Given the description of an element on the screen output the (x, y) to click on. 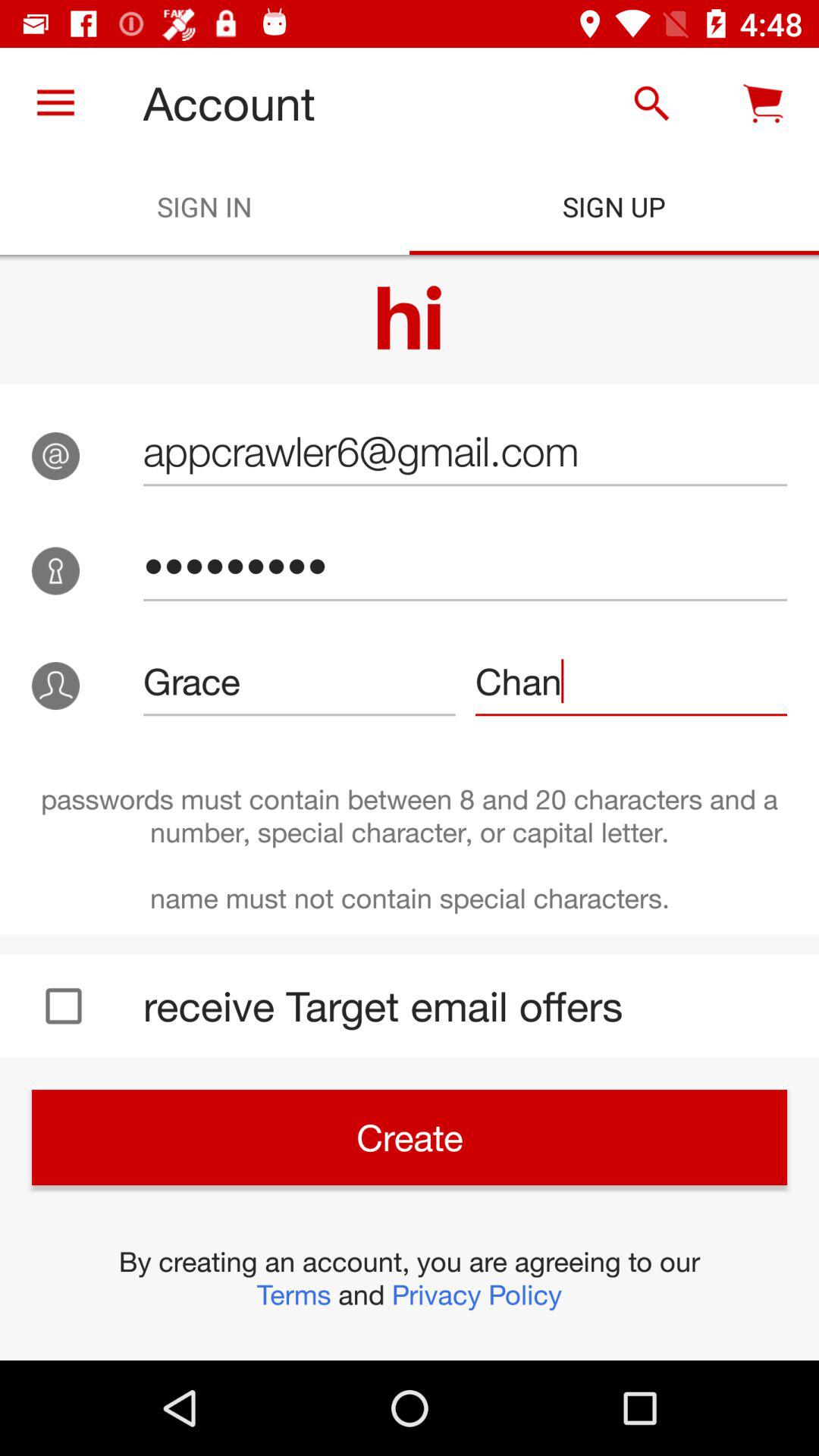
open item above passwords must contain item (299, 681)
